Given the description of an element on the screen output the (x, y) to click on. 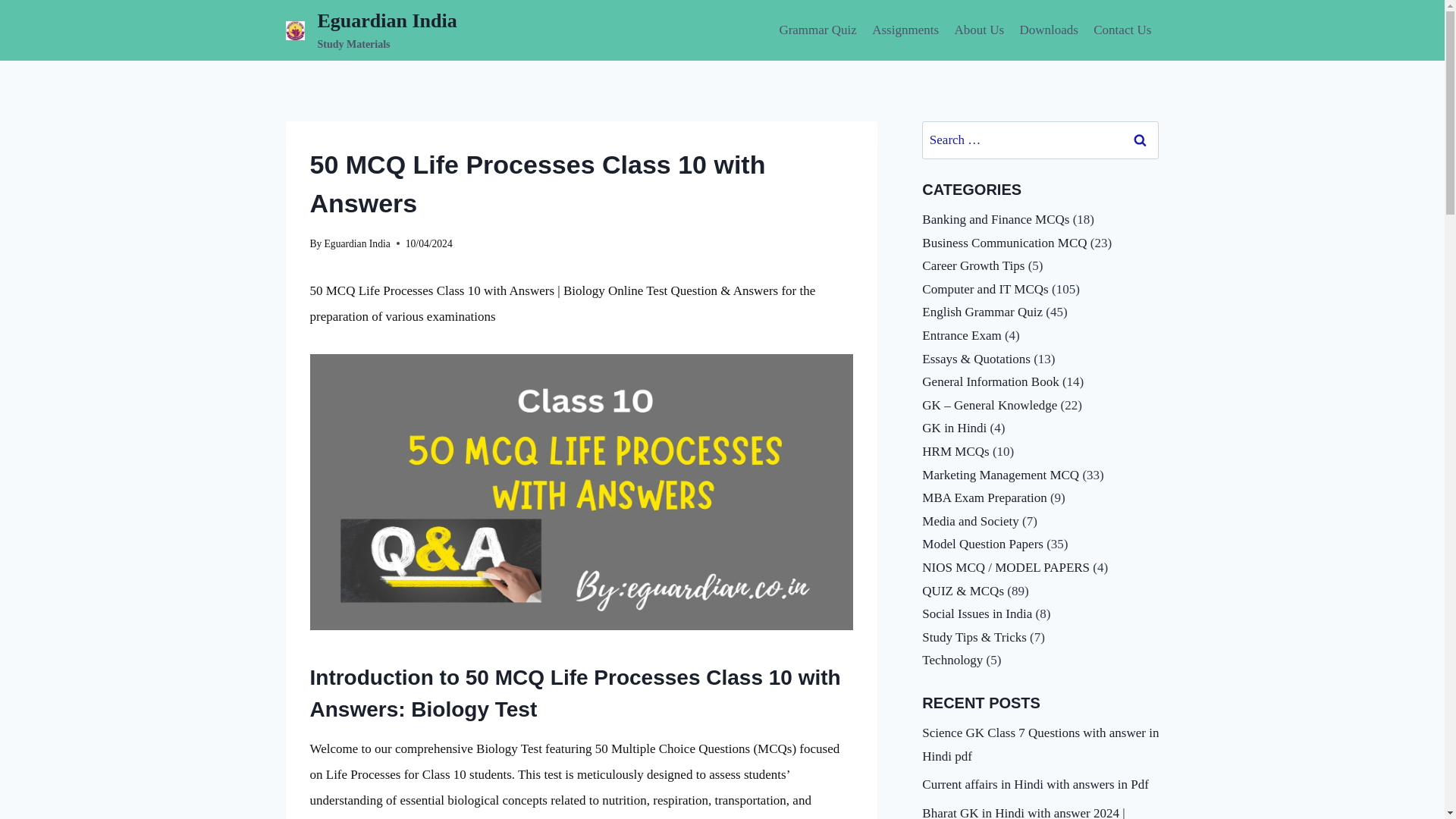
Search (1139, 139)
Grammar Quiz (817, 29)
Contact Us (1122, 29)
About Us (978, 29)
Assignments (905, 29)
Search (1139, 139)
Eguardian India (357, 243)
Downloads (371, 30)
